Given the description of an element on the screen output the (x, y) to click on. 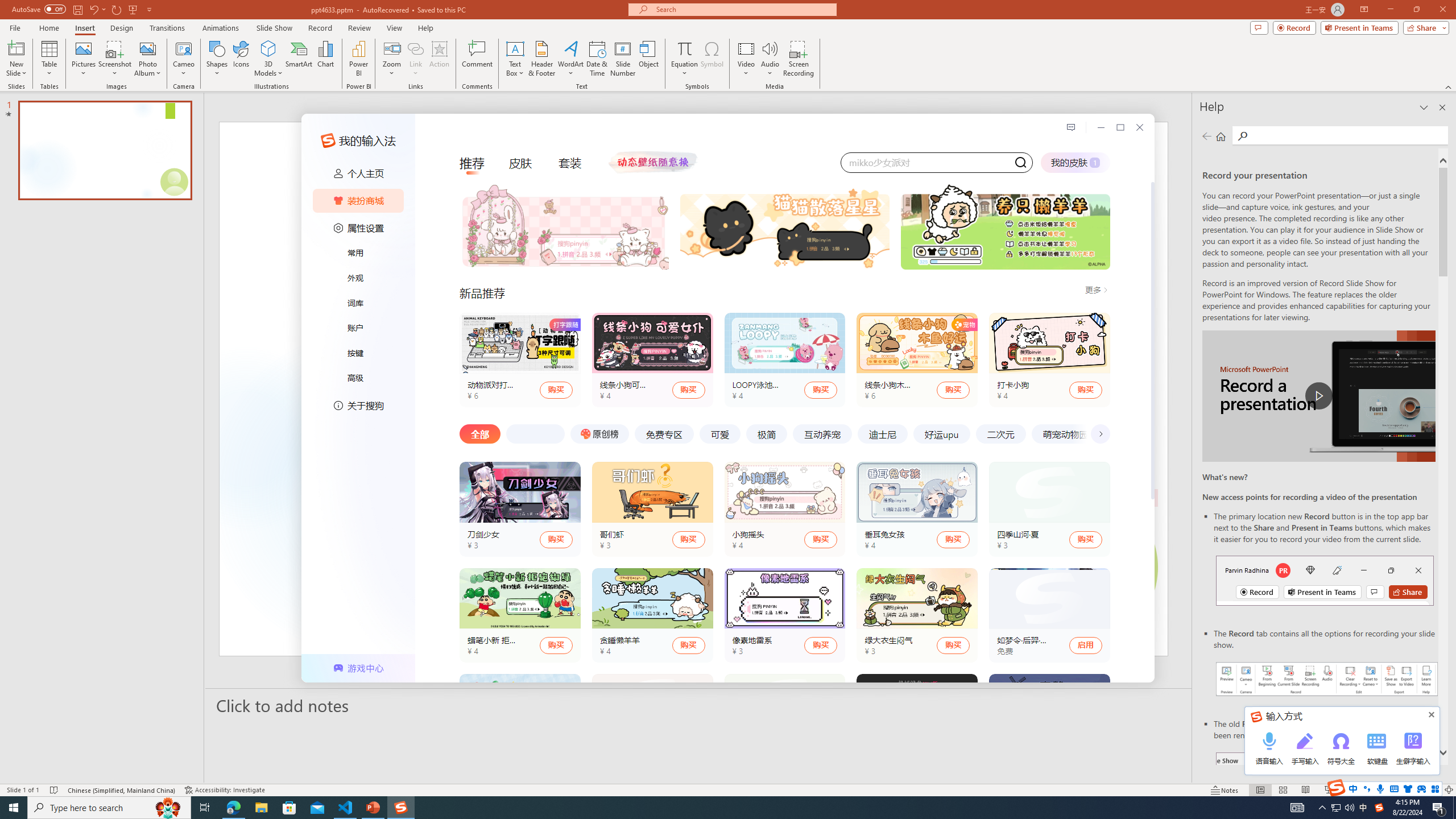
Record button in top bar (1324, 580)
3D Models (268, 58)
